Given the description of an element on the screen output the (x, y) to click on. 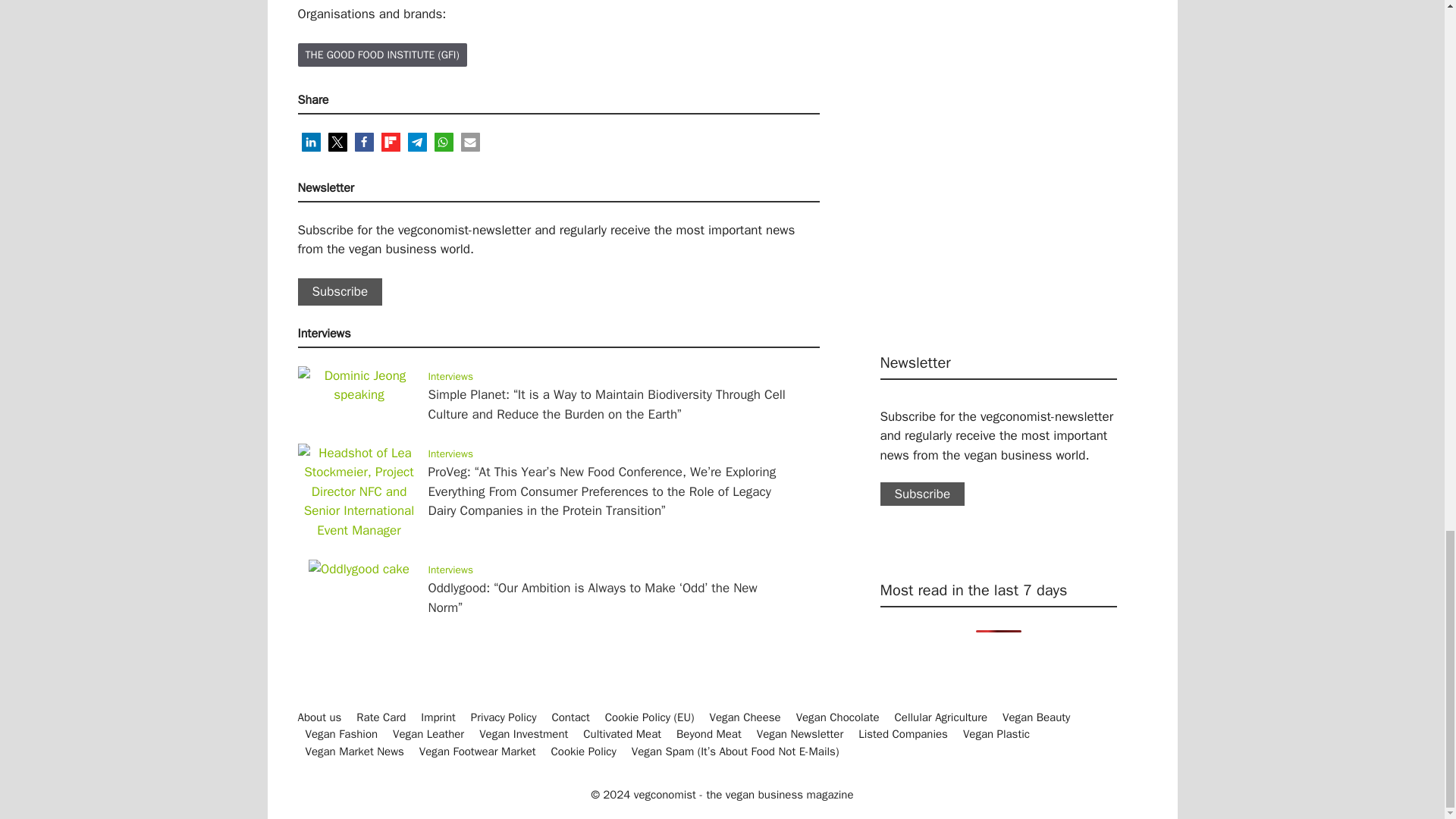
Share on Flipboard (389, 141)
Share on Whatsapp (442, 141)
Share on X (336, 141)
Send by email (470, 141)
Share on Telegram (416, 141)
Share on LinkedIn (310, 141)
Scroll back to top (1406, 8)
Share on Facebook (364, 141)
